Given the description of an element on the screen output the (x, y) to click on. 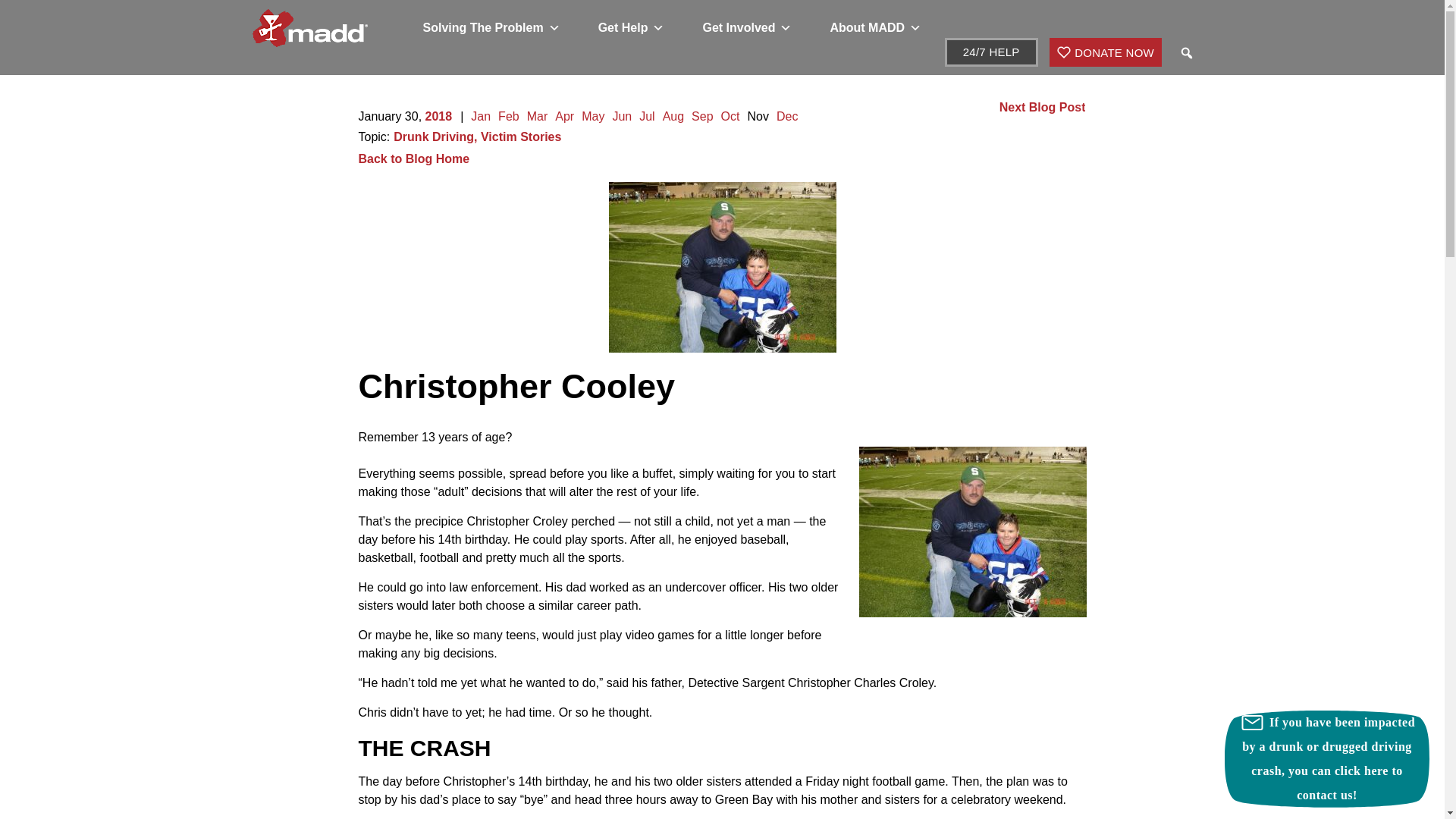
Solving The Problem (490, 28)
Get Help (631, 28)
Get Involved (746, 28)
